Given the description of an element on the screen output the (x, y) to click on. 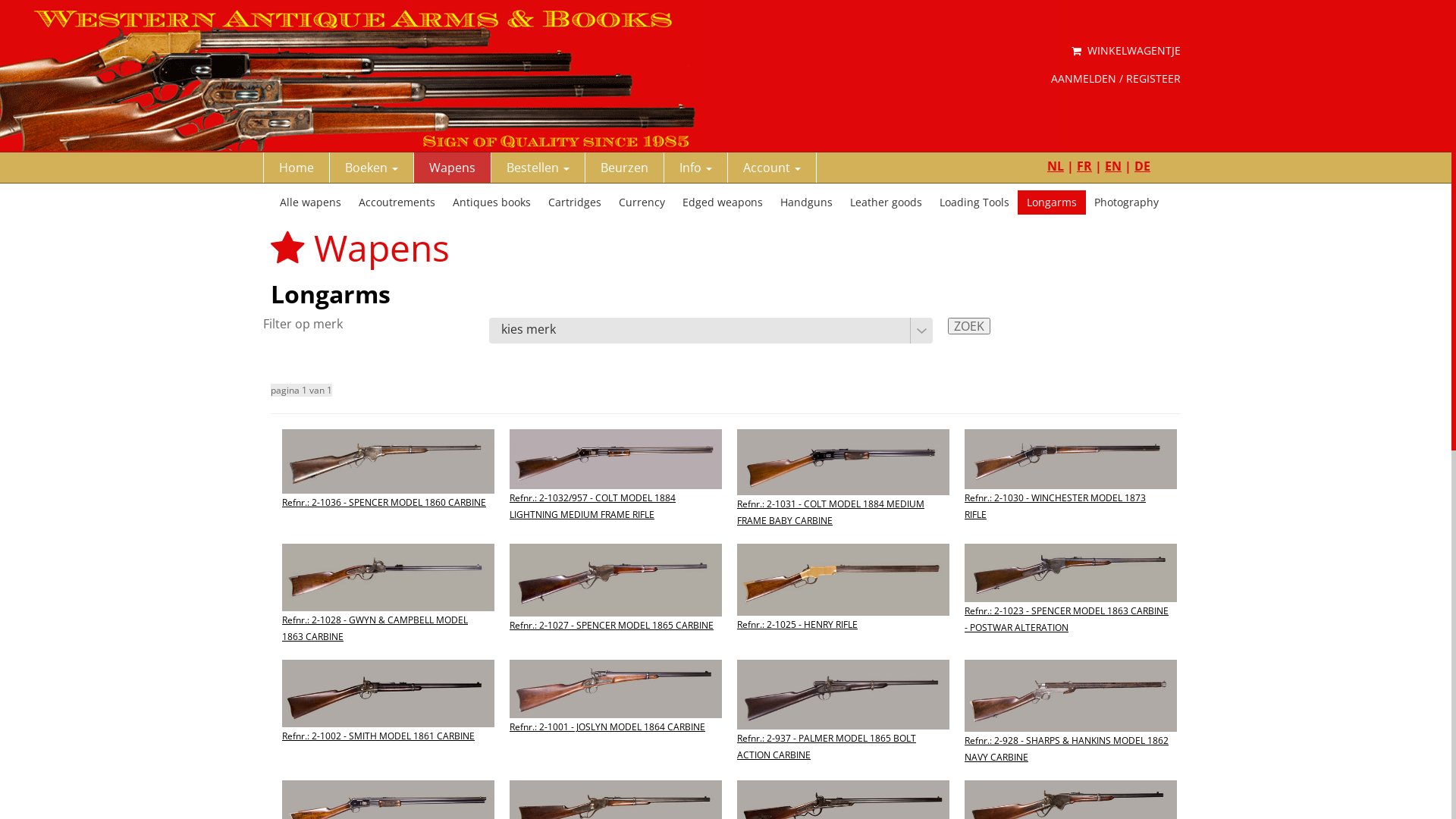
Currency Element type: text (641, 202)
Refnr.: 2-937 - PALMER MODEL 1865 BOLT ACTION CARBINE Element type: text (843, 724)
Refnr.: 2-1027 - SPENCER MODEL 1865 CARBINE Element type: text (615, 601)
EN Element type: text (1112, 165)
Refnr.: 2-1030 - WINCHESTER MODEL 1873 RIFLE Element type: text (1070, 485)
Refnr.: 2-1001 - JOSLYN MODEL 1864 CARBINE Element type: text (615, 707)
Edged weapons Element type: text (722, 202)
Alle wapens Element type: text (310, 202)
Refnr.: 2-1002 - SMITH MODEL 1861 CARBINE Element type: text (388, 714)
Refnr.: 2-1036 - SPENCER MODEL 1860 CARBINE Element type: text (388, 481)
Loading Tools Element type: text (974, 202)
Account Element type: text (772, 167)
Boeken Element type: text (371, 167)
kies merk Element type: text (709, 330)
Refnr.: 2-928 - SHARPS & HANKINS MODEL 1862 NAVY CARBINE Element type: text (1070, 725)
Handguns Element type: text (806, 202)
Home Element type: text (296, 167)
Refnr.: 2-1028 - GWYN & CAMPBELL MODEL 1863 CARBINE Element type: text (388, 605)
Info Element type: text (696, 167)
Refnr.: 2-1031 - COLT MODEL 1884 MEDIUM FRAME BABY CARBINE Element type: text (843, 490)
Wapens Element type: text (452, 167)
Antiques books Element type: text (491, 202)
Bestellen Element type: text (538, 167)
ZOEK Element type: text (968, 325)
Cartridges Element type: text (574, 202)
DE Element type: text (1142, 165)
NL Element type: text (1055, 165)
Beurzen Element type: text (624, 167)
Refnr.: 2-1025 - HENRY RIFLE Element type: text (843, 601)
FR Element type: text (1084, 165)
Longarms Element type: text (1051, 202)
AANMELDEN / REGISTEER Element type: text (1115, 78)
Photography Element type: text (1126, 202)
Accoutrements Element type: text (396, 202)
Leather goods Element type: text (885, 202)
  WINKELWAGENTJE Element type: text (1125, 50)
